Given the description of an element on the screen output the (x, y) to click on. 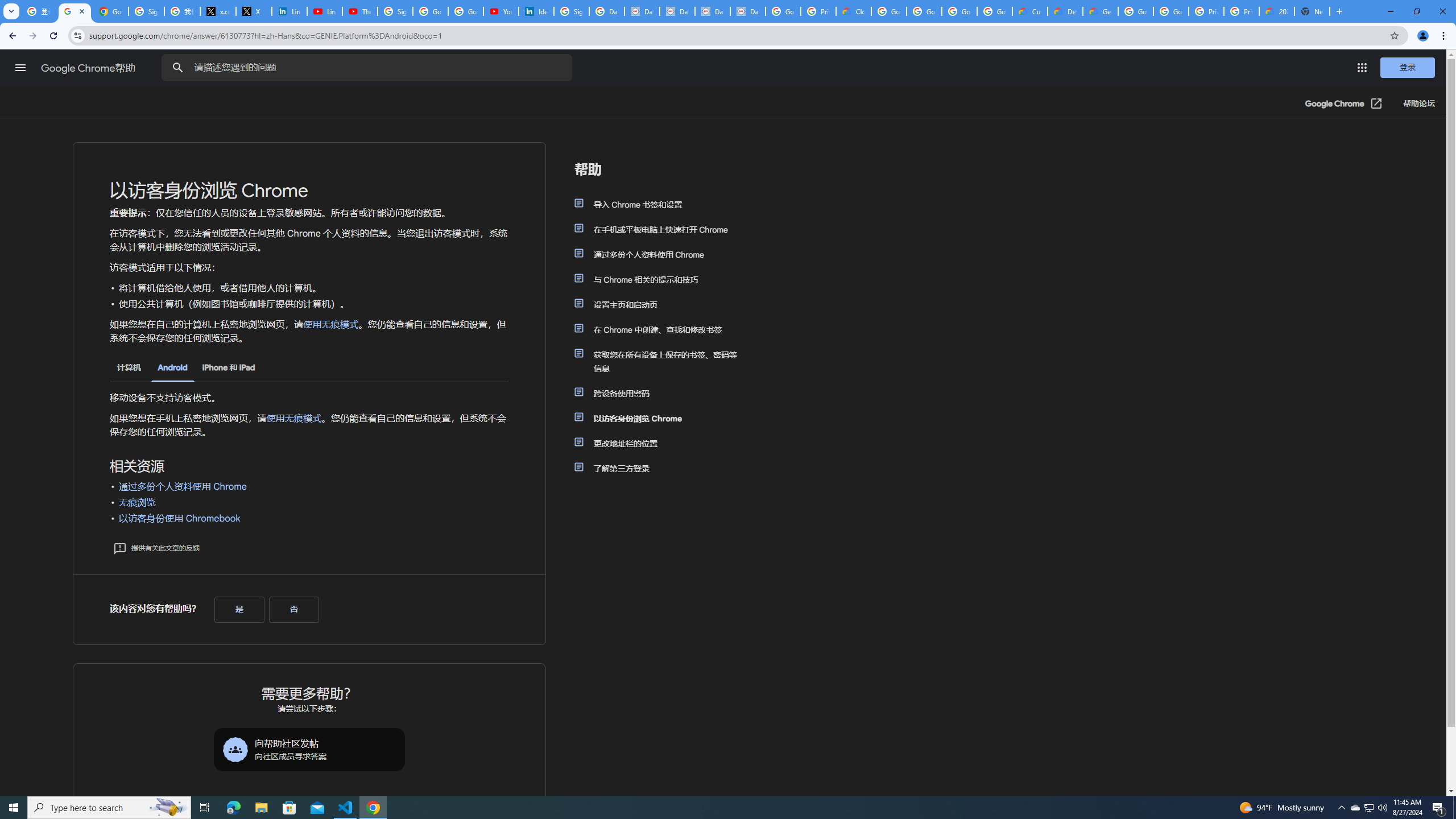
Data Privacy Framework (641, 11)
